Given the description of an element on the screen output the (x, y) to click on. 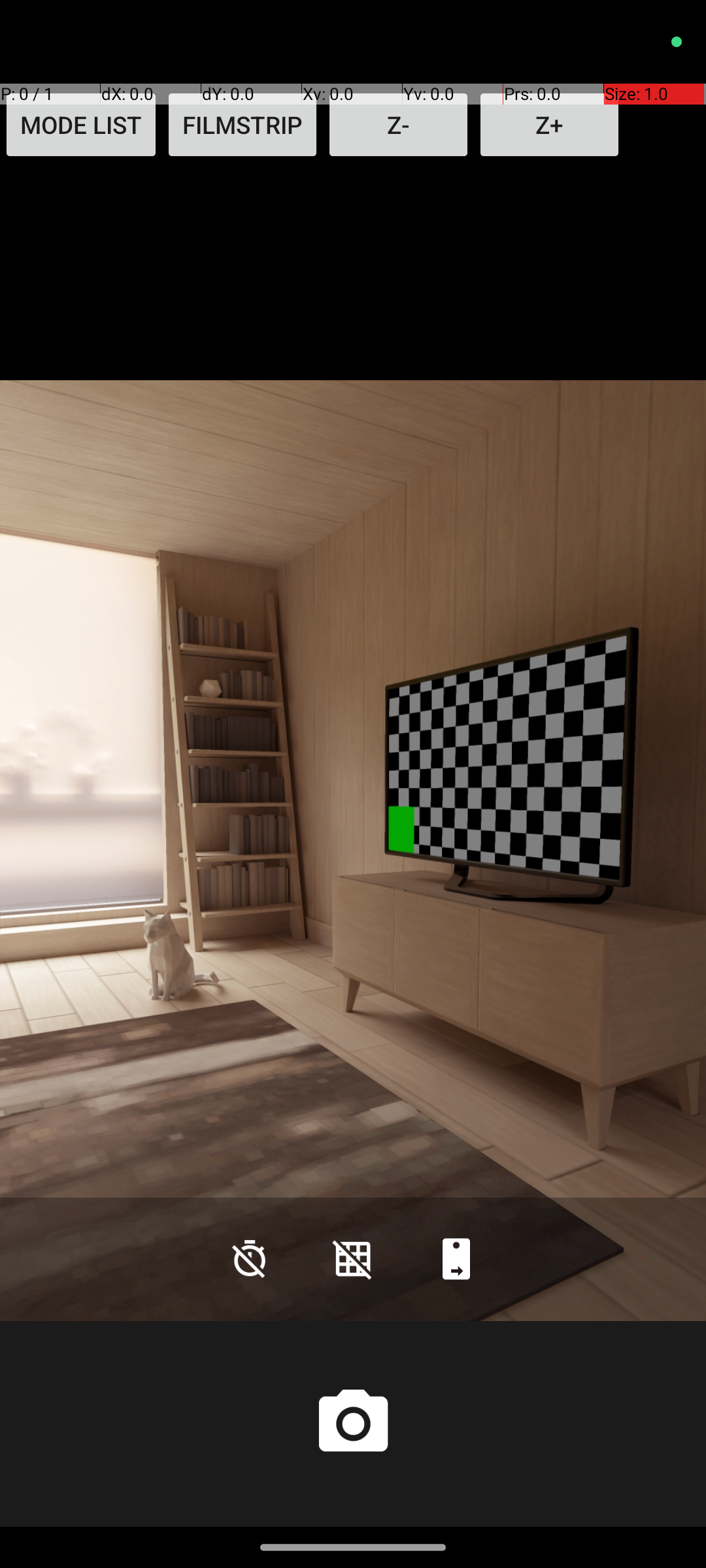
Countdown timer is off Element type: android.widget.ImageButton (249, 1258)
Grid lines off Element type: android.widget.ImageButton (352, 1258)
Back camera Element type: android.widget.ImageButton (456, 1258)
